Given the description of an element on the screen output the (x, y) to click on. 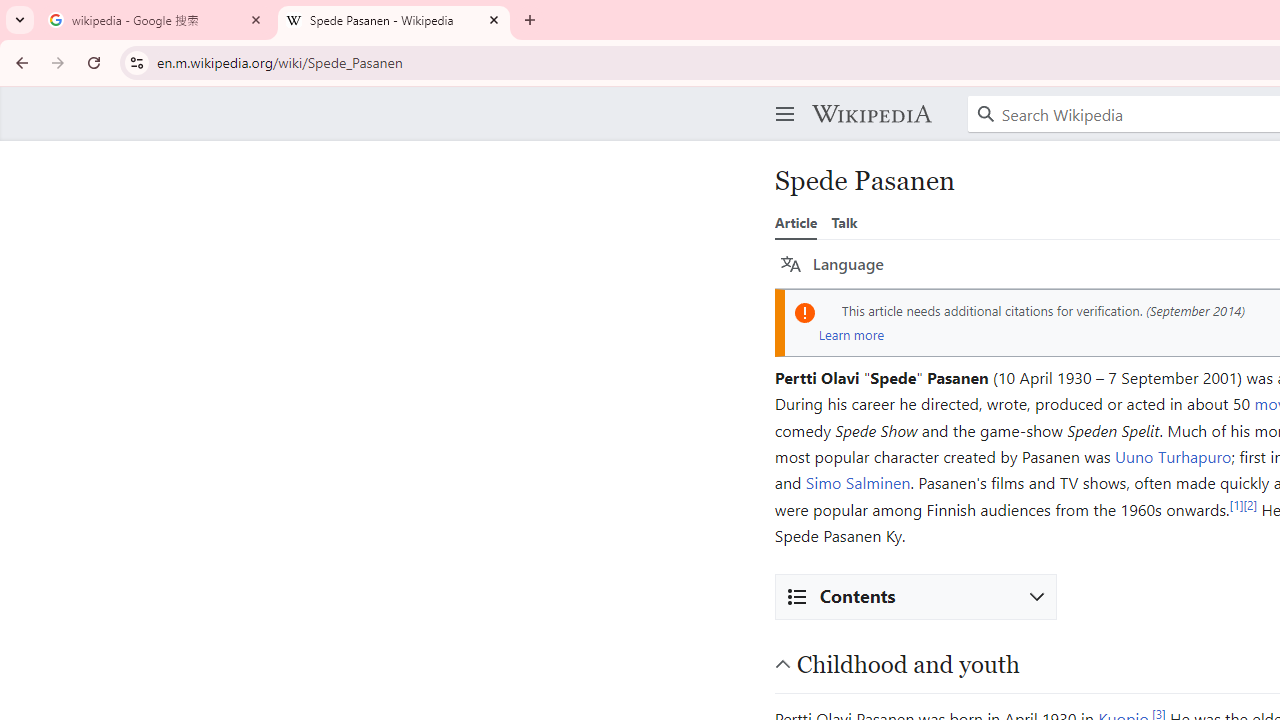
Simo Salminen (858, 482)
[2] (1250, 504)
Wikipedia (871, 114)
